Given the description of an element on the screen output the (x, y) to click on. 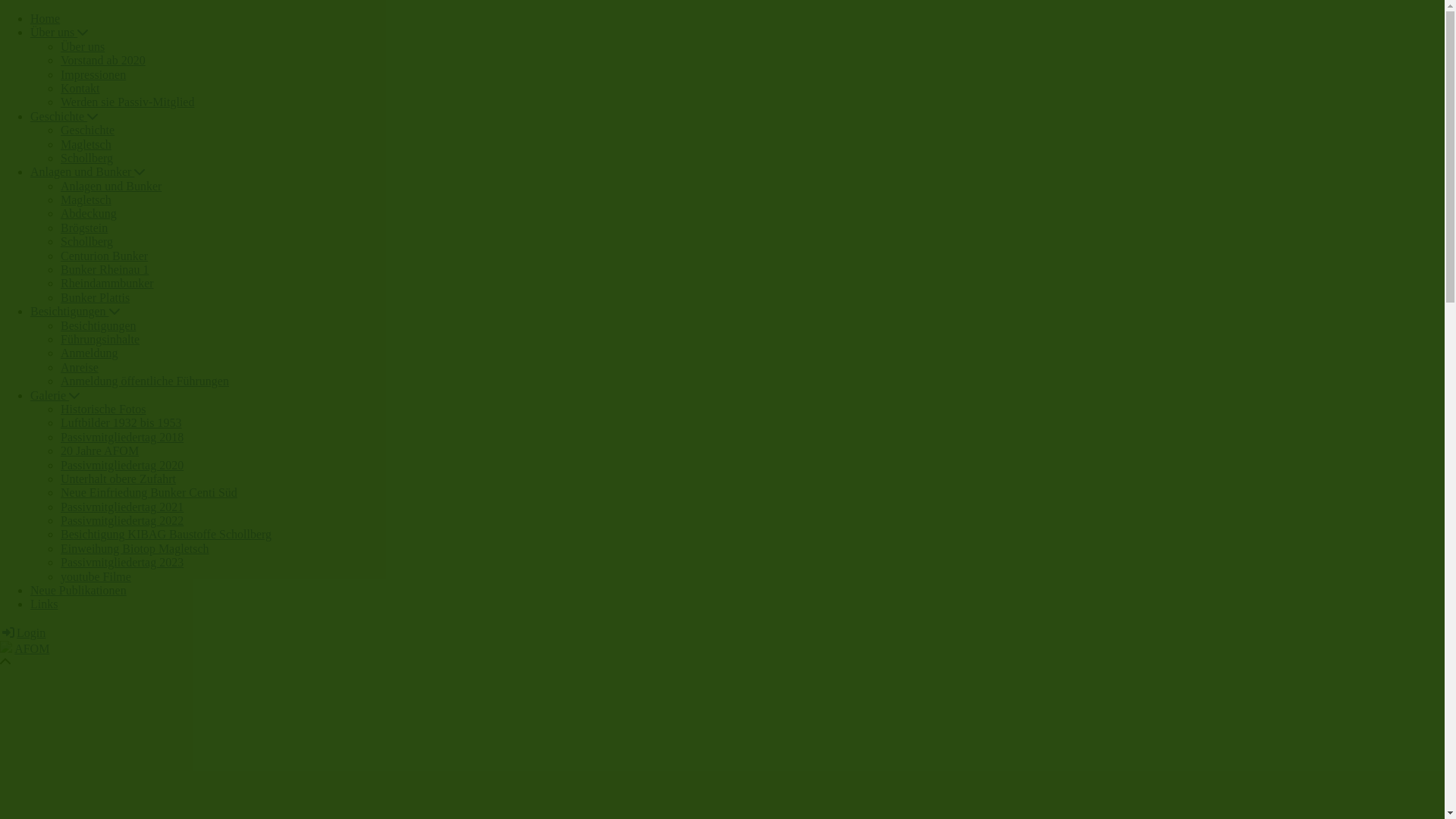
Galerie Element type: text (54, 395)
Geschichte Element type: text (87, 129)
Login Element type: text (22, 632)
Passivmitgliedertag 2021 Element type: text (121, 506)
Besichtigungen Element type: text (98, 325)
Neue Publikationen Element type: text (78, 589)
Geschichte Element type: text (63, 115)
Bunker Rheinau 1 Element type: text (104, 269)
Centurion Bunker Element type: text (103, 255)
Vorstand ab 2020 Element type: text (102, 59)
Impressionen Element type: text (92, 74)
AFOM Element type: text (31, 648)
Passivmitgliedertag 2023 Element type: text (121, 561)
Anlagen und Bunker Element type: text (110, 185)
Passivmitgliedertag 2022 Element type: text (121, 520)
Passivmitgliedertag 2020 Element type: text (121, 464)
Anmeldung Element type: text (89, 352)
20 Jahre AFOM Element type: text (99, 450)
Rheindammbunker Element type: text (106, 282)
Home Element type: text (44, 18)
Unterhalt obere Zufahrt Element type: text (117, 478)
Einweihung Biotop Magletsch Element type: text (134, 548)
Luftbilder 1932 bis 1953 Element type: text (121, 422)
Besichtigung KIBAG Baustoffe Schollberg Element type: text (165, 533)
Magletsch Element type: text (85, 199)
Magletsch Element type: text (85, 144)
Abdeckung Element type: text (88, 213)
Kontakt Element type: text (80, 87)
Anreise Element type: text (79, 366)
Historische Fotos Element type: text (102, 408)
Werden sie Passiv-Mitglied Element type: text (127, 101)
Schollberg Element type: text (86, 241)
youtube Filme Element type: text (95, 576)
Passivmitgliedertag 2018 Element type: text (121, 436)
Bunker Plattis Element type: text (94, 297)
Schollberg Element type: text (86, 157)
Links Element type: text (43, 603)
Anlagen und Bunker Element type: text (87, 171)
Besichtigungen Element type: text (74, 310)
